Given the description of an element on the screen output the (x, y) to click on. 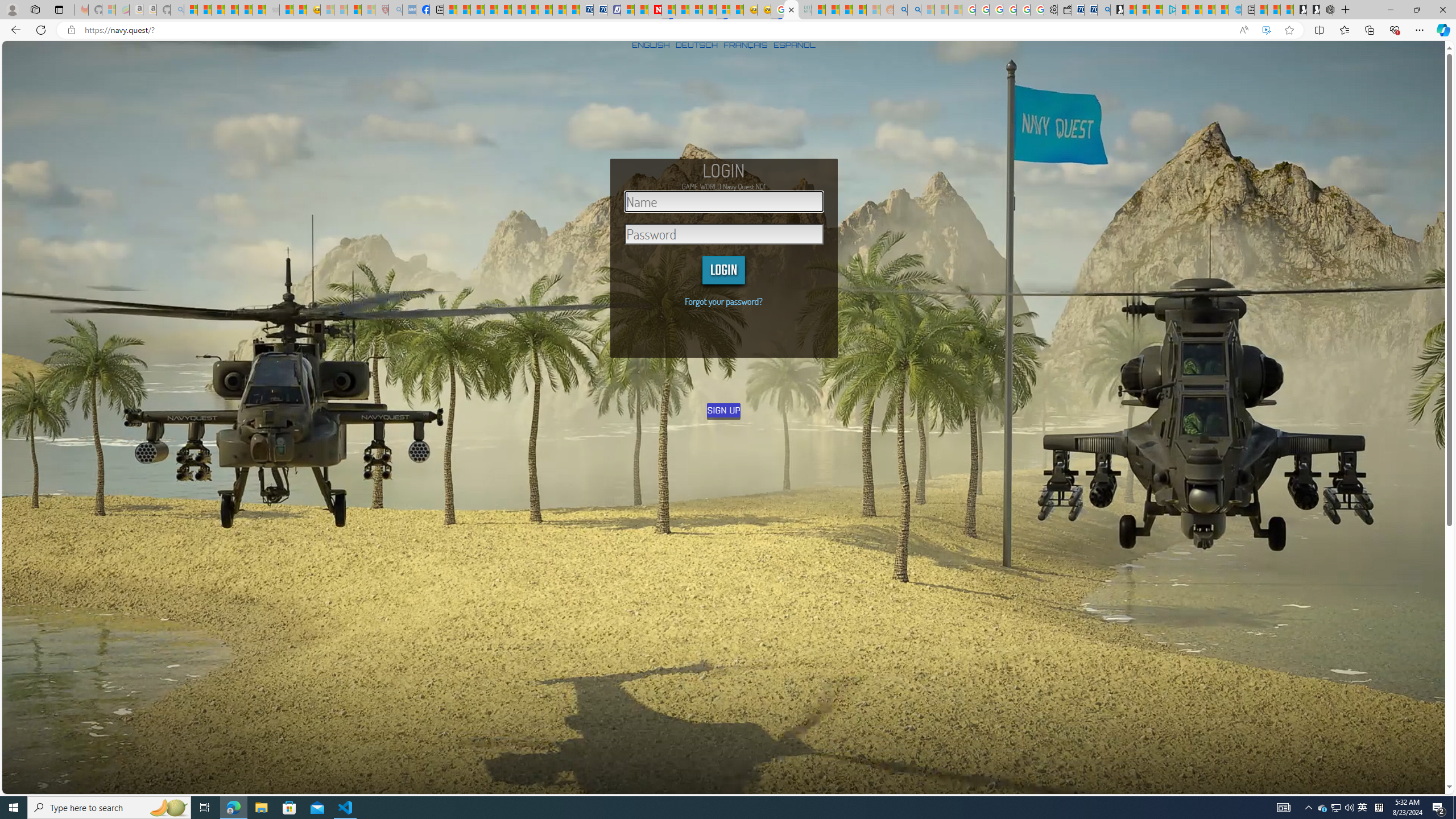
DEUTSCH (696, 44)
ENGLISH (650, 44)
Climate Damage Becomes Too Severe To Reverse (490, 9)
LOGIN (723, 269)
Wallet (1063, 9)
